Given the description of an element on the screen output the (x, y) to click on. 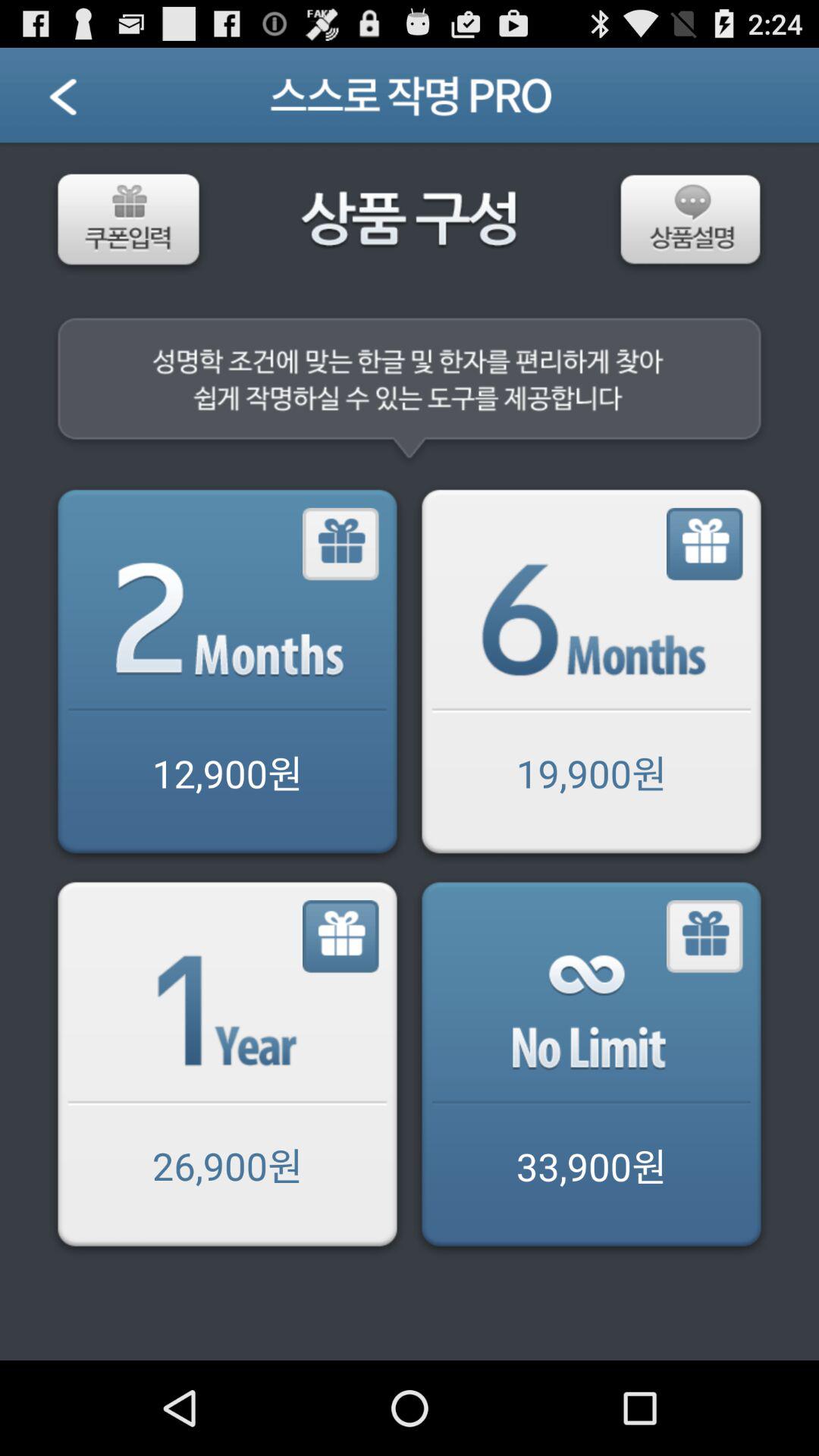
share the article (591, 1067)
